Given the description of an element on the screen output the (x, y) to click on. 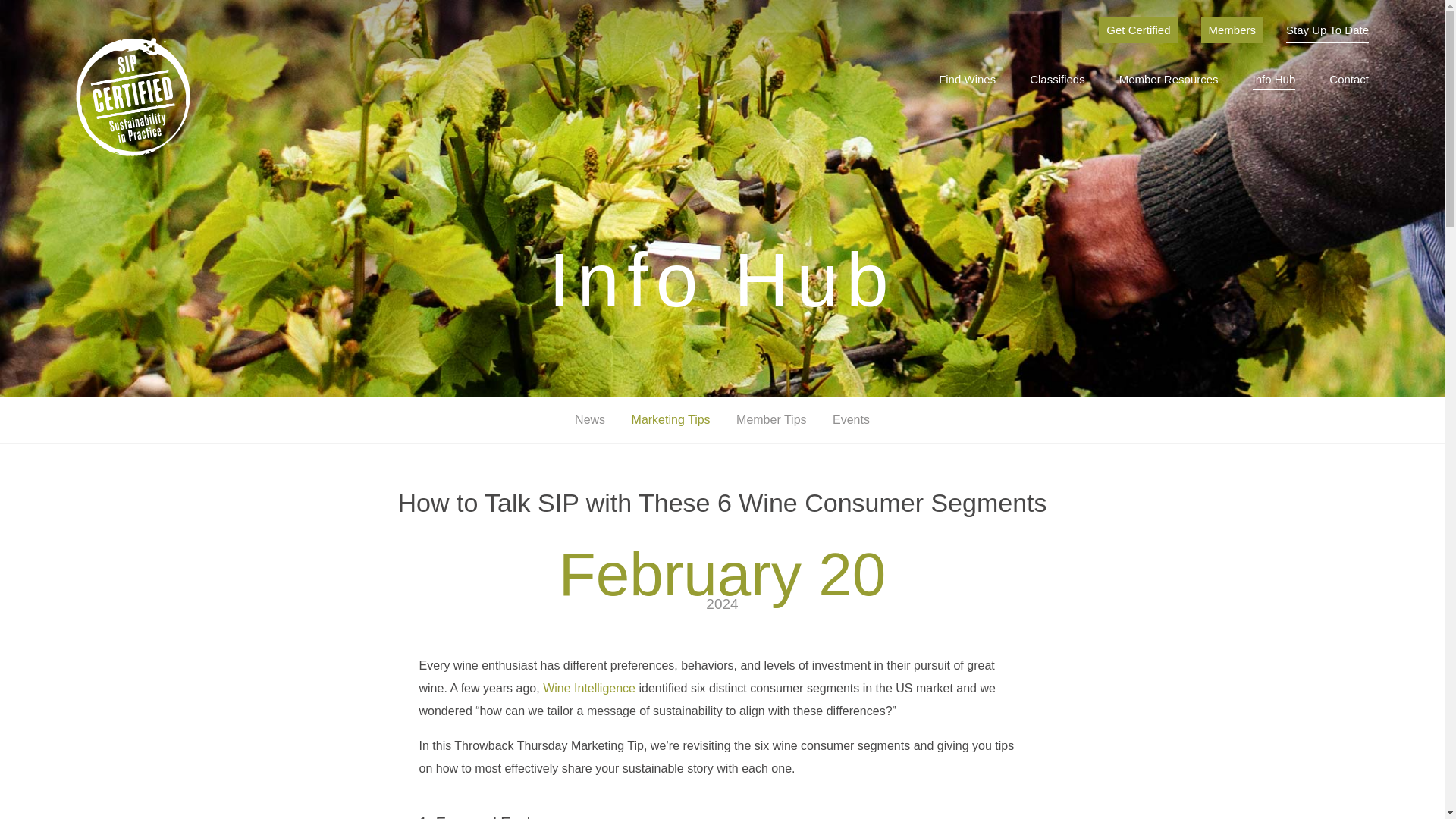
Marketing Tips (670, 419)
Contact (1348, 80)
Find Wines (967, 80)
Member Tips (772, 419)
Events (850, 419)
Members (1232, 29)
Info Hub (1273, 81)
Get Certified (1138, 29)
Wine Intelligence (588, 687)
News (590, 419)
